Given the description of an element on the screen output the (x, y) to click on. 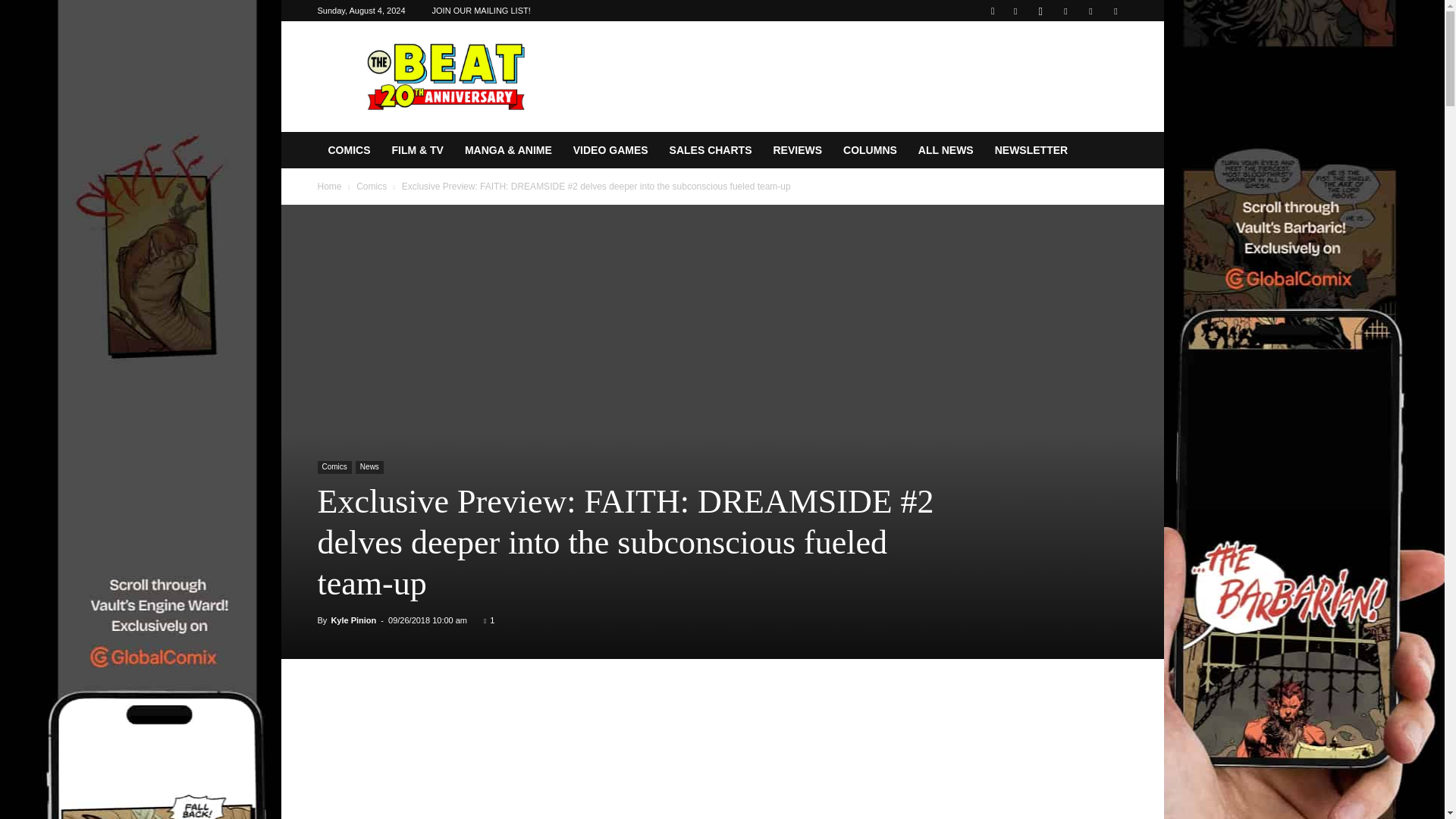
Search (1085, 64)
Instagram (1040, 10)
NEWSLETTER (1031, 149)
RSS (1065, 10)
VIDEO GAMES (610, 149)
ALL NEWS (945, 149)
View all posts in Comics (371, 185)
REVIEWS (796, 149)
JOIN OUR MAILING LIST! (481, 10)
Twitter (1090, 10)
COMICS (348, 149)
Facebook (1015, 10)
COLUMNS (869, 149)
Youtube (1114, 10)
SALES CHARTS (710, 149)
